Given the description of an element on the screen output the (x, y) to click on. 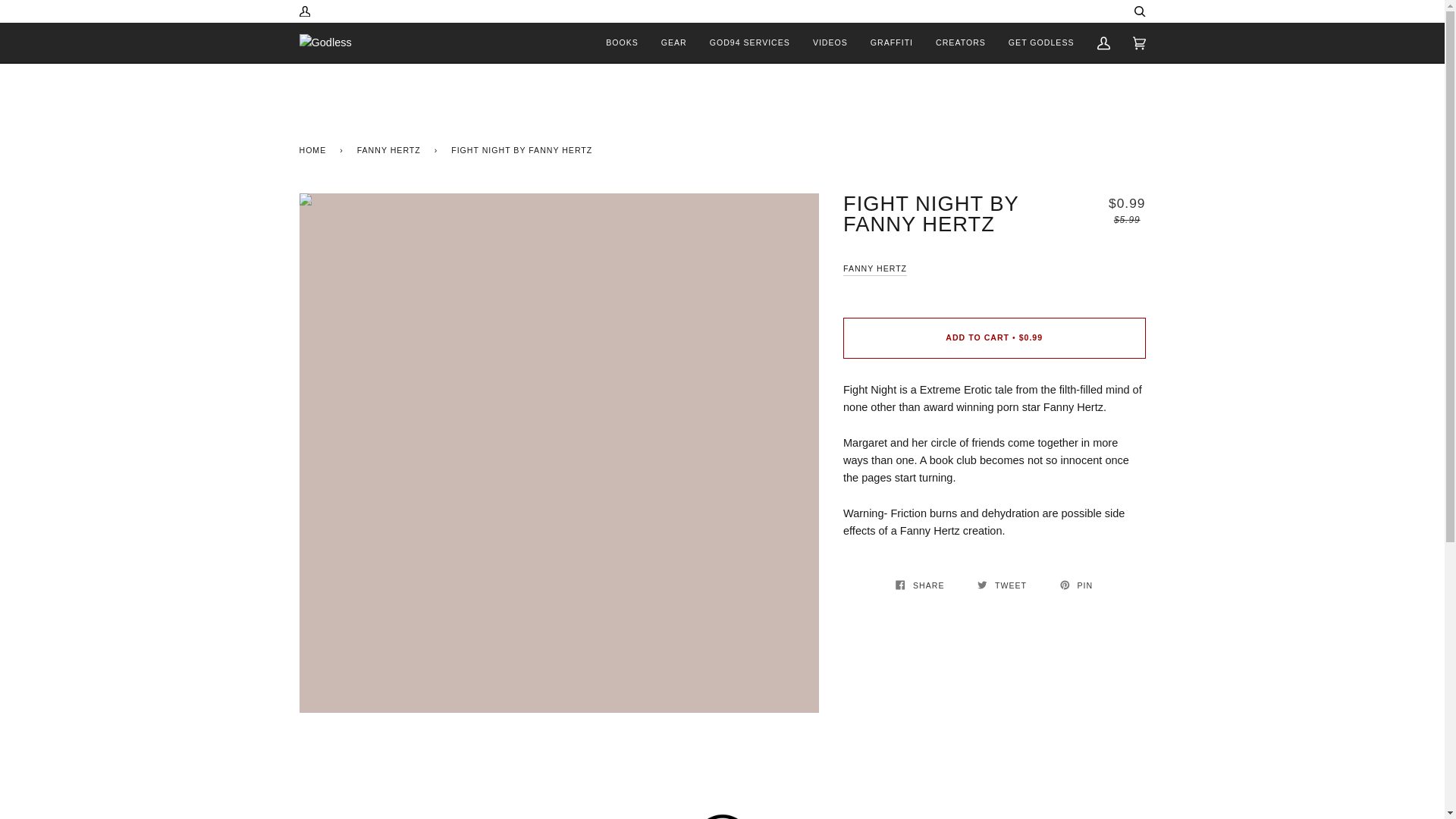
GOD94 SERVICES (750, 42)
GEAR (673, 42)
Back to the frontpage (314, 149)
BOOKS (621, 42)
